Given the description of an element on the screen output the (x, y) to click on. 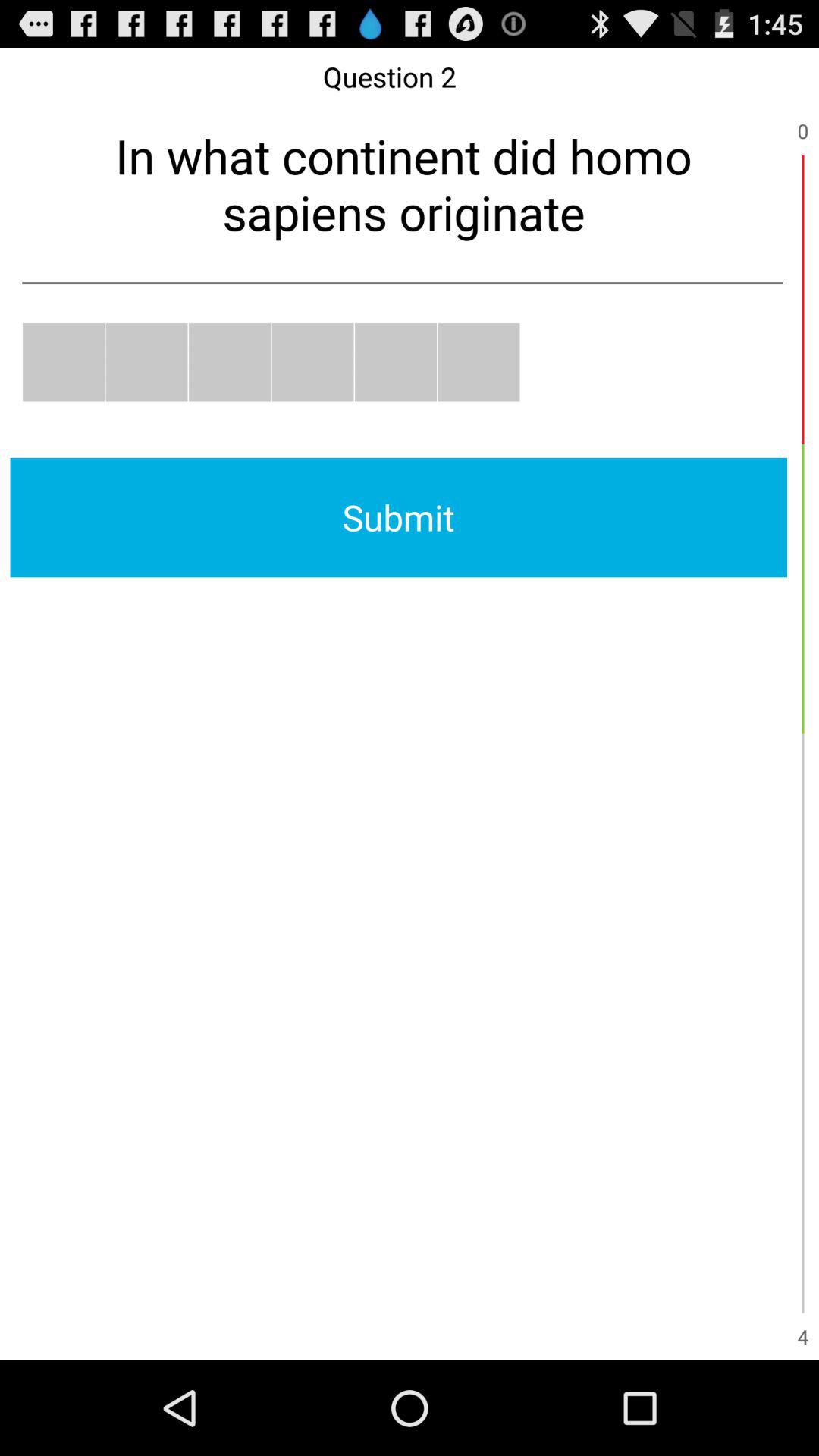
input letter (146, 362)
